Given the description of an element on the screen output the (x, y) to click on. 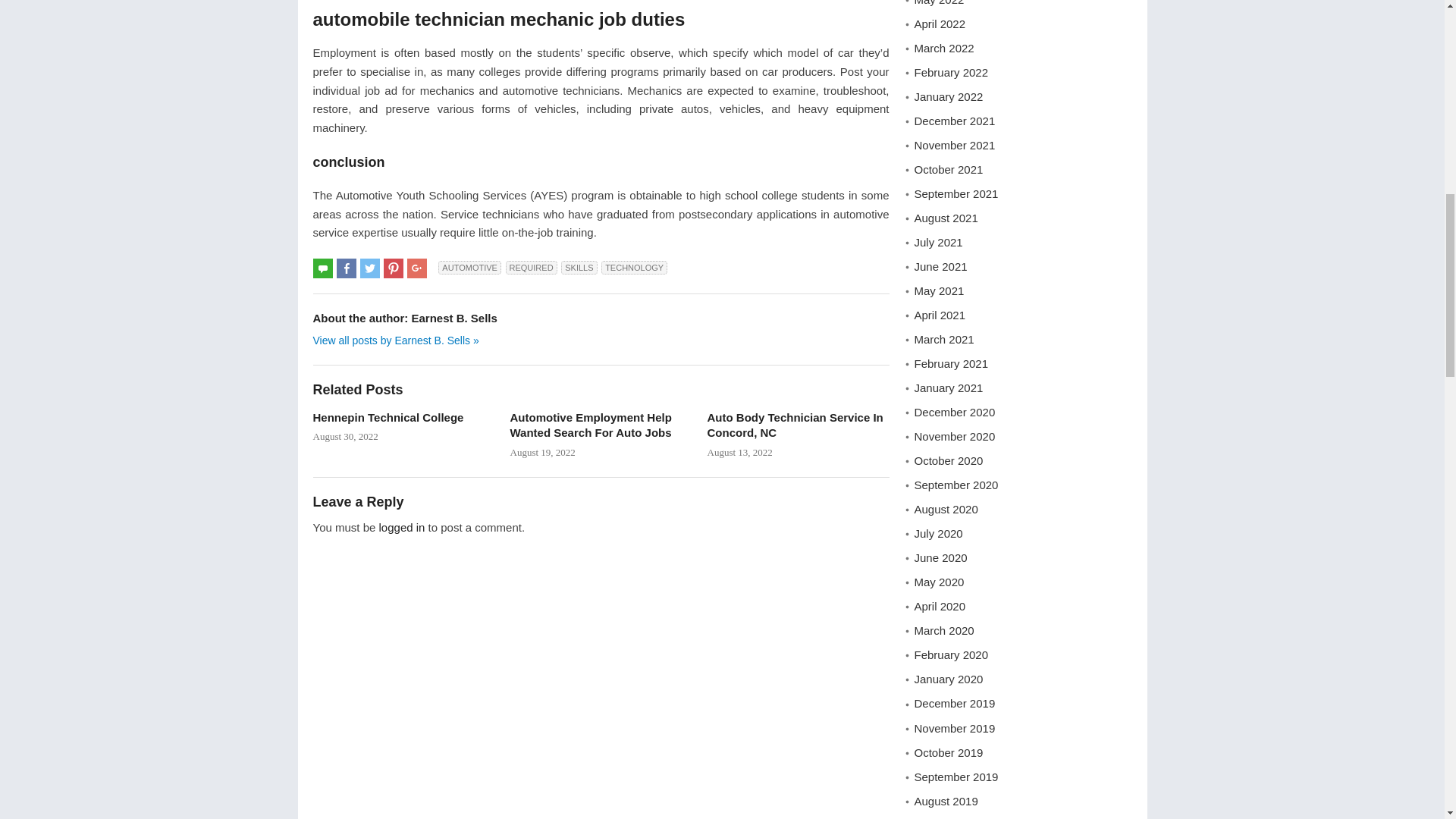
Share on Facebook (346, 268)
Share on Twitter (369, 268)
Share on Pinterest (393, 268)
